Given the description of an element on the screen output the (x, y) to click on. 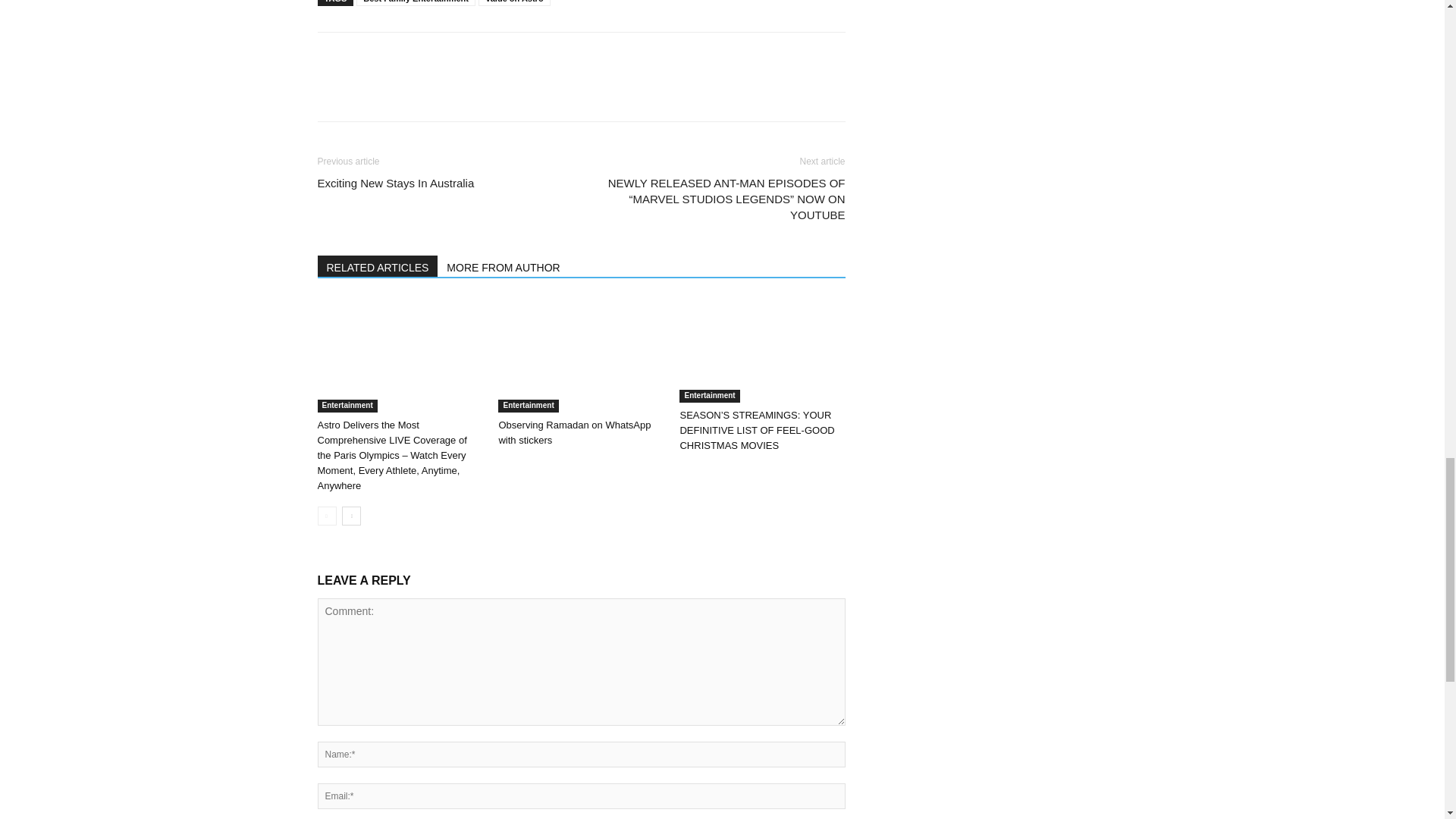
Value on Astro (514, 2)
Exciting New Stays In Australia (395, 182)
Best Family Entertainment (416, 2)
